Given the description of an element on the screen output the (x, y) to click on. 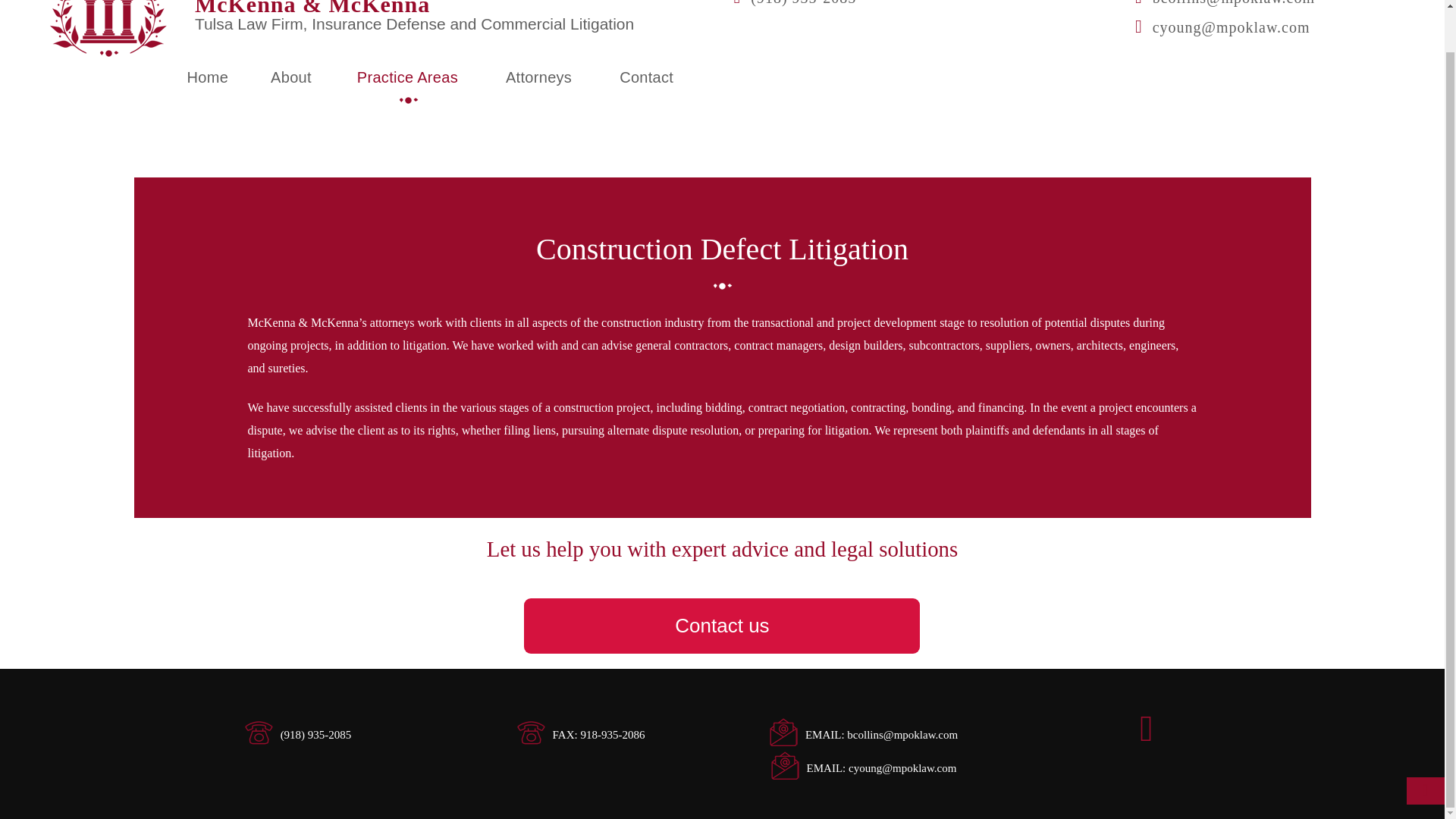
Home (206, 77)
Contact us (722, 625)
About (290, 77)
Contact (646, 77)
Contact us (722, 625)
Attorneys (541, 77)
Practice Areas (408, 77)
